Given the description of an element on the screen output the (x, y) to click on. 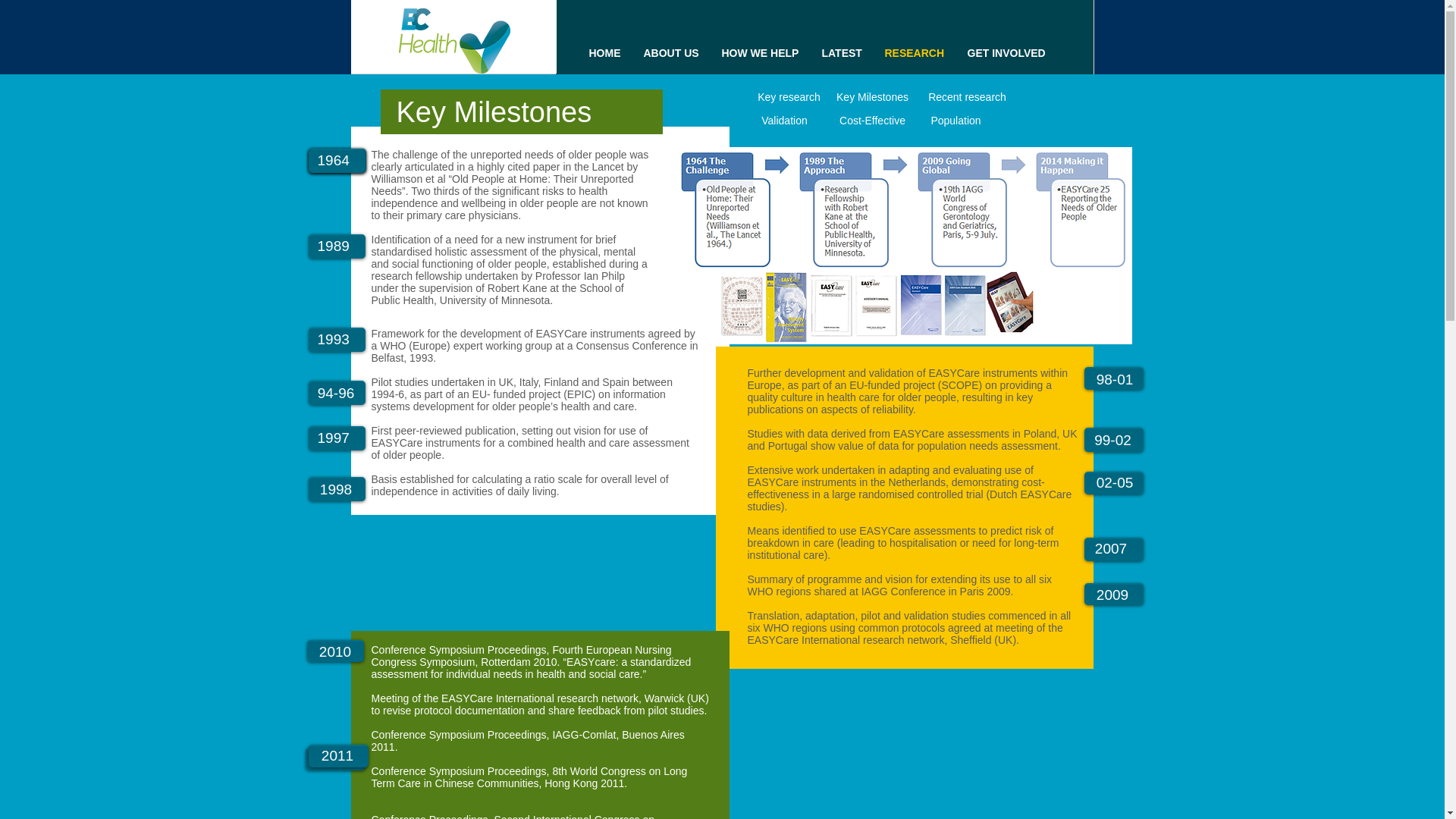
Key research (789, 96)
RESEARCH (914, 52)
HOW WE HELP (759, 52)
Key Milestones (872, 96)
ABOUT US (670, 52)
LATEST (840, 52)
Cost-Effective (872, 120)
Recent research (966, 96)
GET INVOLVED (1006, 52)
Validation (784, 120)
Population (956, 120)
HOME (604, 52)
